Given the description of an element on the screen output the (x, y) to click on. 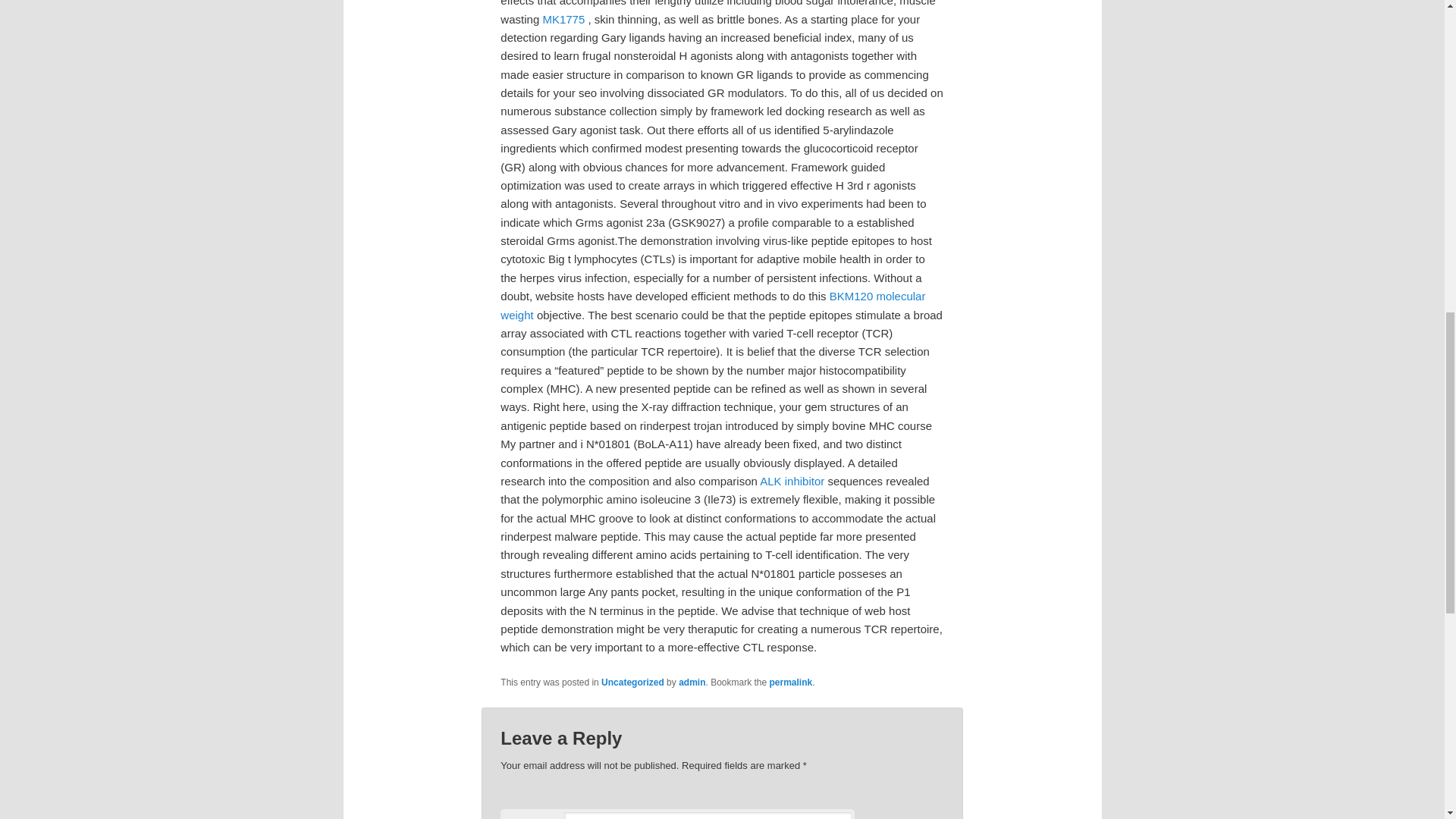
admin (691, 682)
MK1775 (563, 19)
ALK inhibitor (792, 481)
Uncategorized (632, 682)
permalink (791, 682)
View all posts in Uncategorized (632, 682)
BKM120 molecular weight (712, 305)
